Given the description of an element on the screen output the (x, y) to click on. 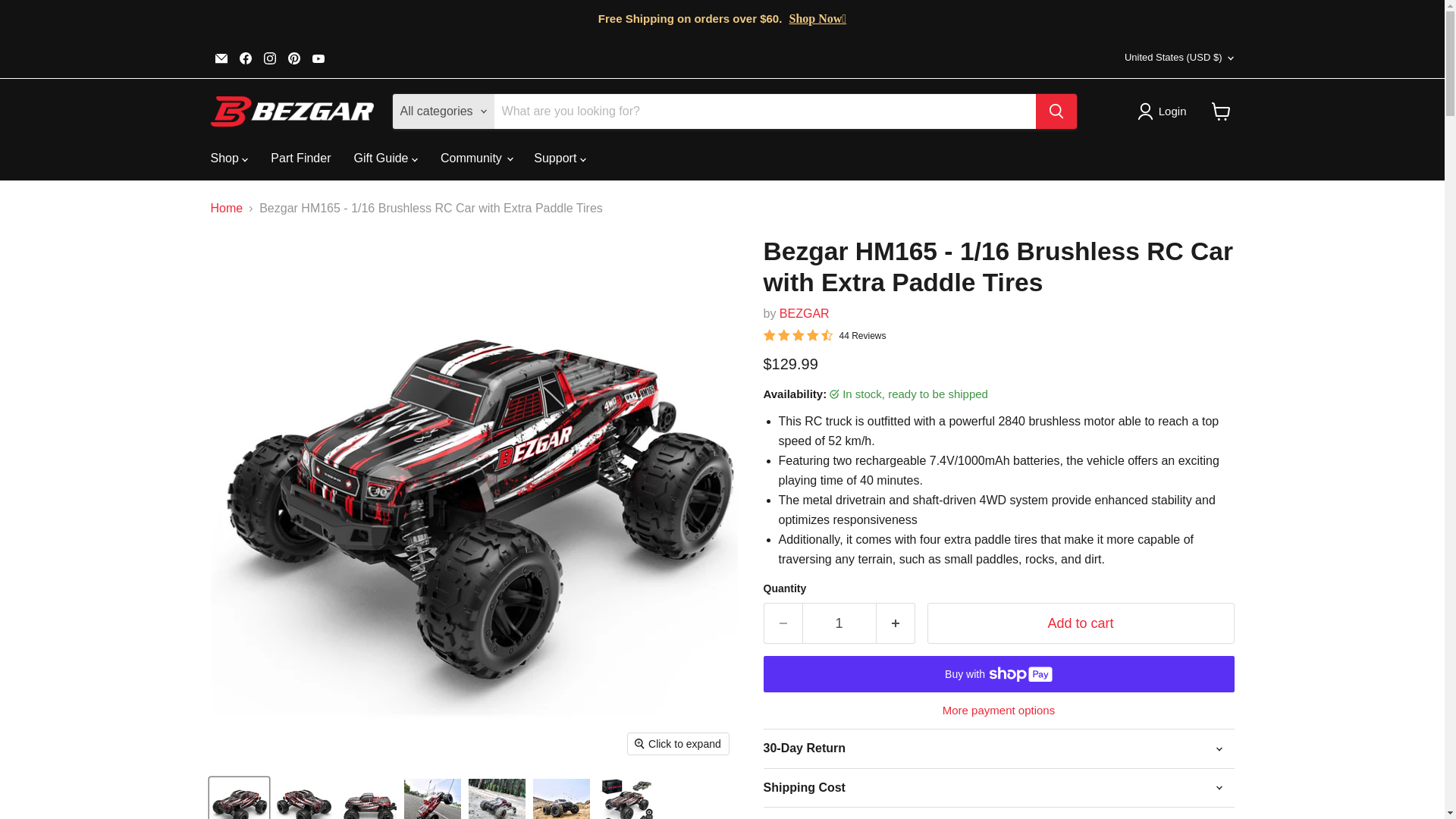
Find us on Pinterest (293, 57)
Email (221, 57)
Find us on YouTube (318, 57)
Instagram (270, 57)
1 (839, 622)
Login (1164, 111)
Email BEZGAR (221, 57)
BEZGAR (803, 313)
Find us on Facebook (245, 57)
Facebook (245, 57)
YouTube (318, 57)
Pinterest (293, 57)
Find us on Instagram (270, 57)
View cart (1221, 111)
